Given the description of an element on the screen output the (x, y) to click on. 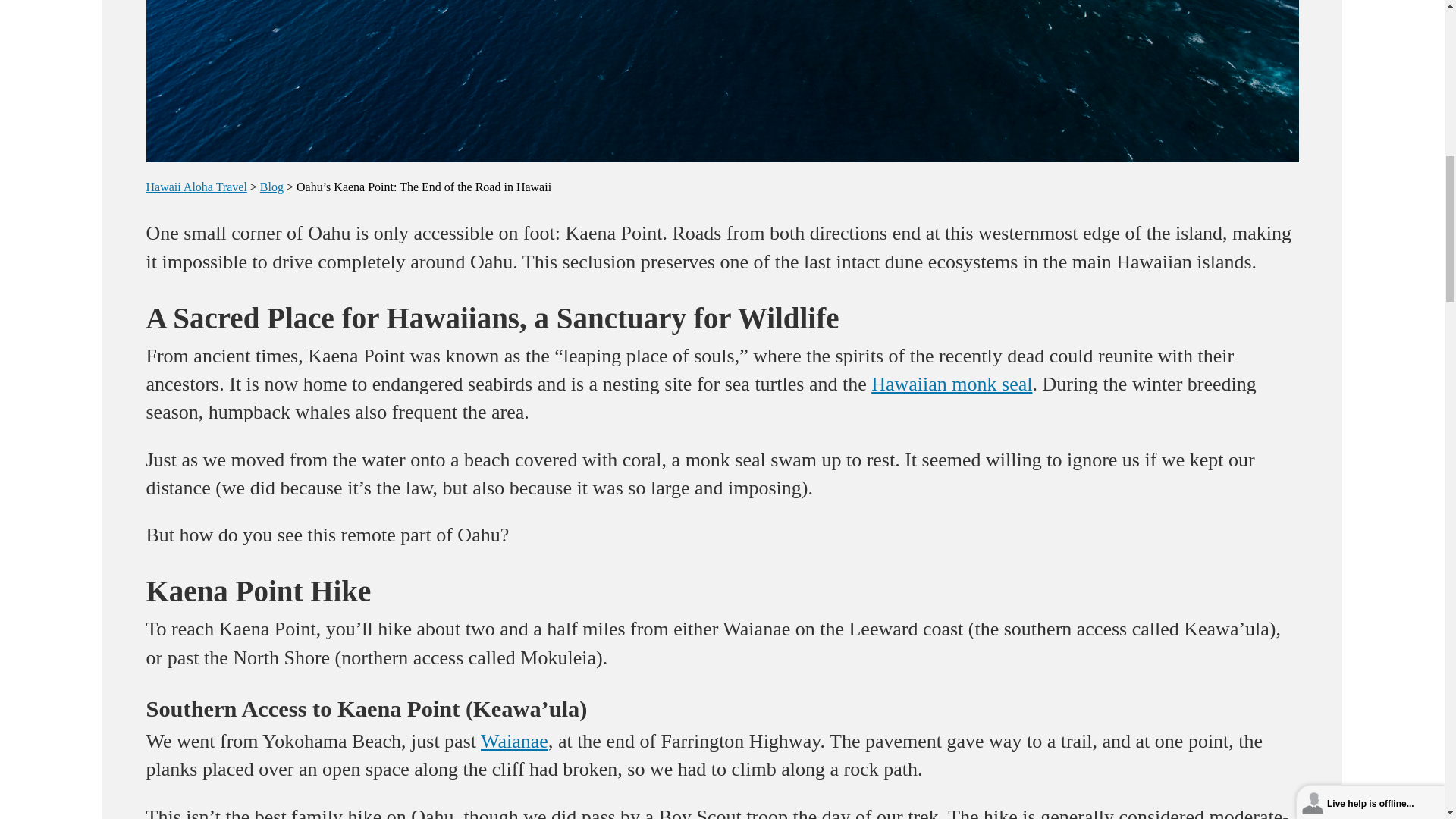
Hawaiian monk seal (951, 383)
Hawaii Aloha Travel (195, 186)
Blog (271, 186)
FareHarbor (1342, 64)
